Given the description of an element on the screen output the (x, y) to click on. 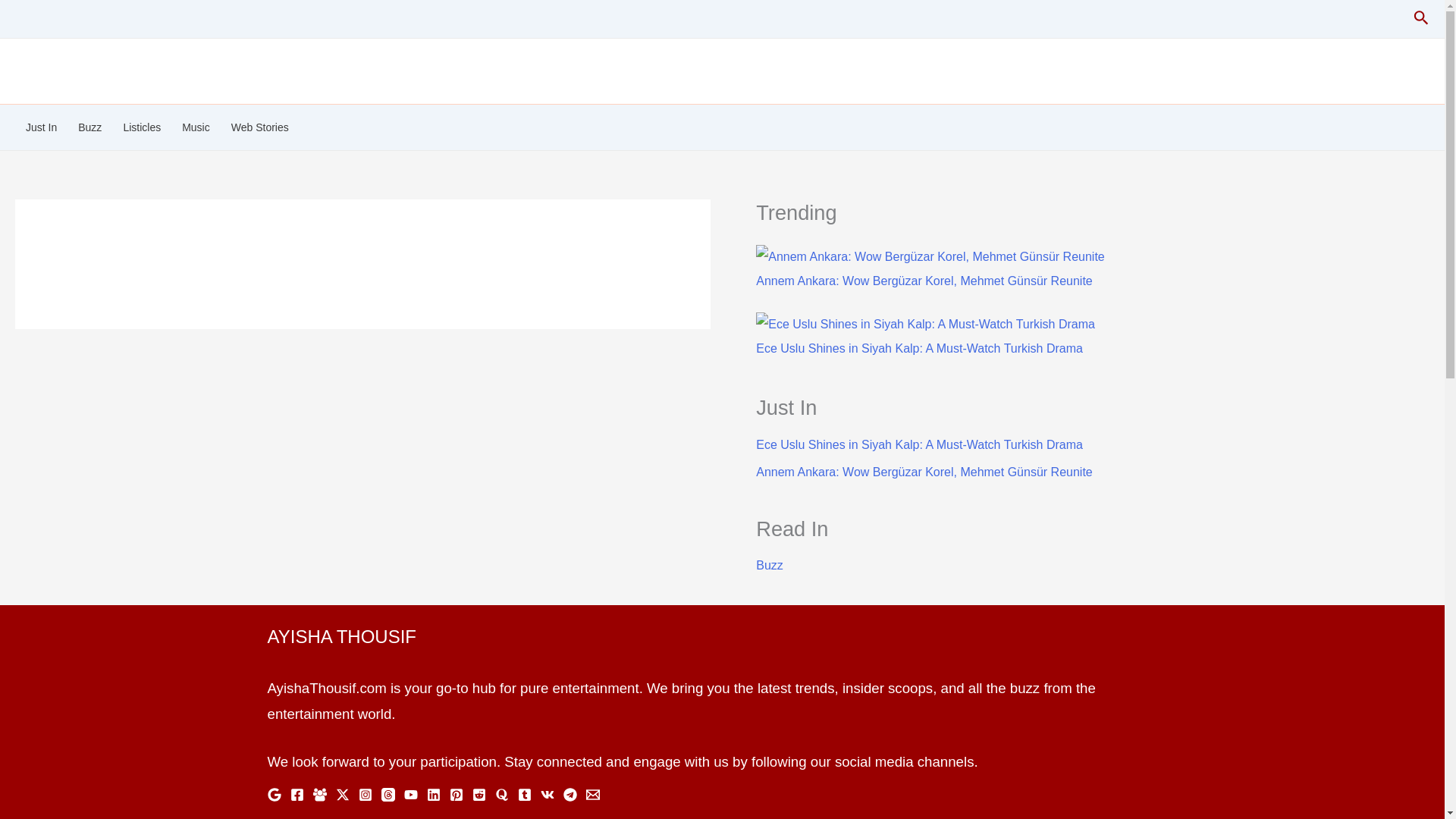
Just In (40, 126)
Buzz (769, 564)
AYISHA THOUSIF (96, 61)
Ece Uslu Shines in Siyah Kalp: A Must-Watch Turkish Drama (919, 444)
Ece Uslu Shines in Siyah Kalp: A Must-Watch Turkish Drama (919, 348)
Music (196, 126)
Buzz (89, 126)
Web Stories (260, 126)
Listicles (141, 126)
